Given the description of an element on the screen output the (x, y) to click on. 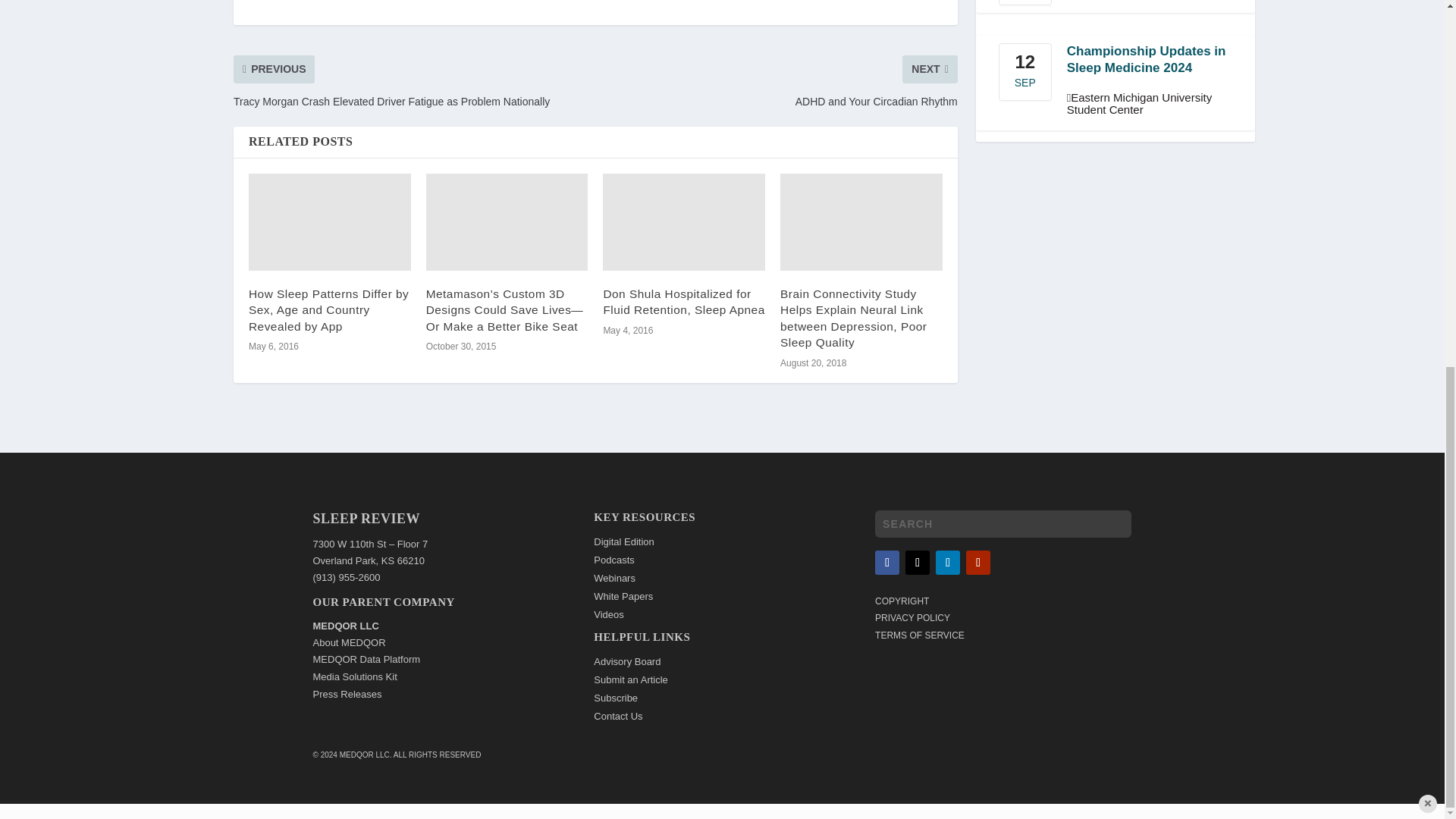
Share "Uncovering the Secrets of Sleep" via Facebook (523, 1)
Don Shula Hospitalized for Fluid Retention, Sleep Apnea (683, 222)
Follow on Facebook (887, 562)
Share "Uncovering the Secrets of Sleep" via Twitter (553, 1)
Share "Uncovering the Secrets of Sleep" via Print (675, 1)
Share "Uncovering the Secrets of Sleep" via Email (645, 1)
Share "Uncovering the Secrets of Sleep" via Pinterest (584, 1)
Share "Uncovering the Secrets of Sleep" via LinkedIn (614, 1)
